Given the description of an element on the screen output the (x, y) to click on. 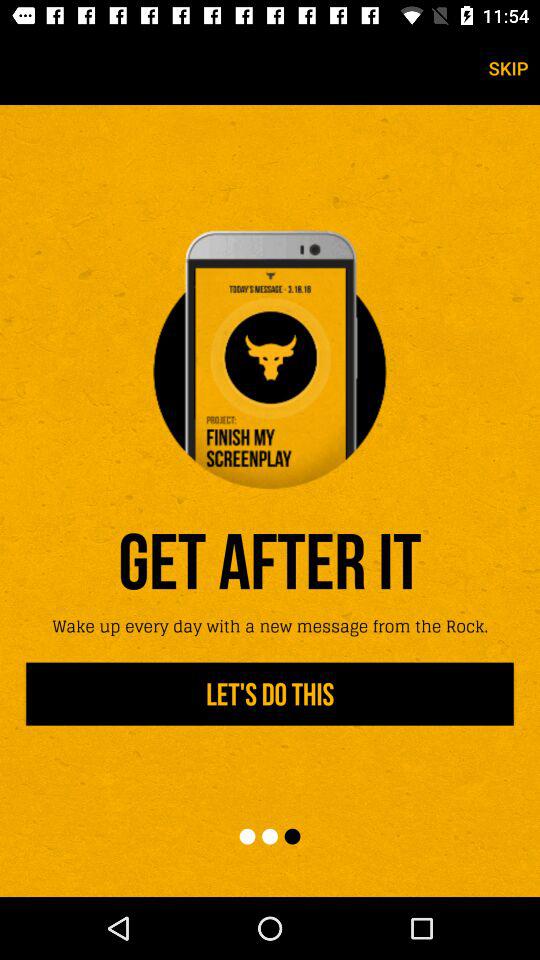
open skip icon (508, 67)
